Given the description of an element on the screen output the (x, y) to click on. 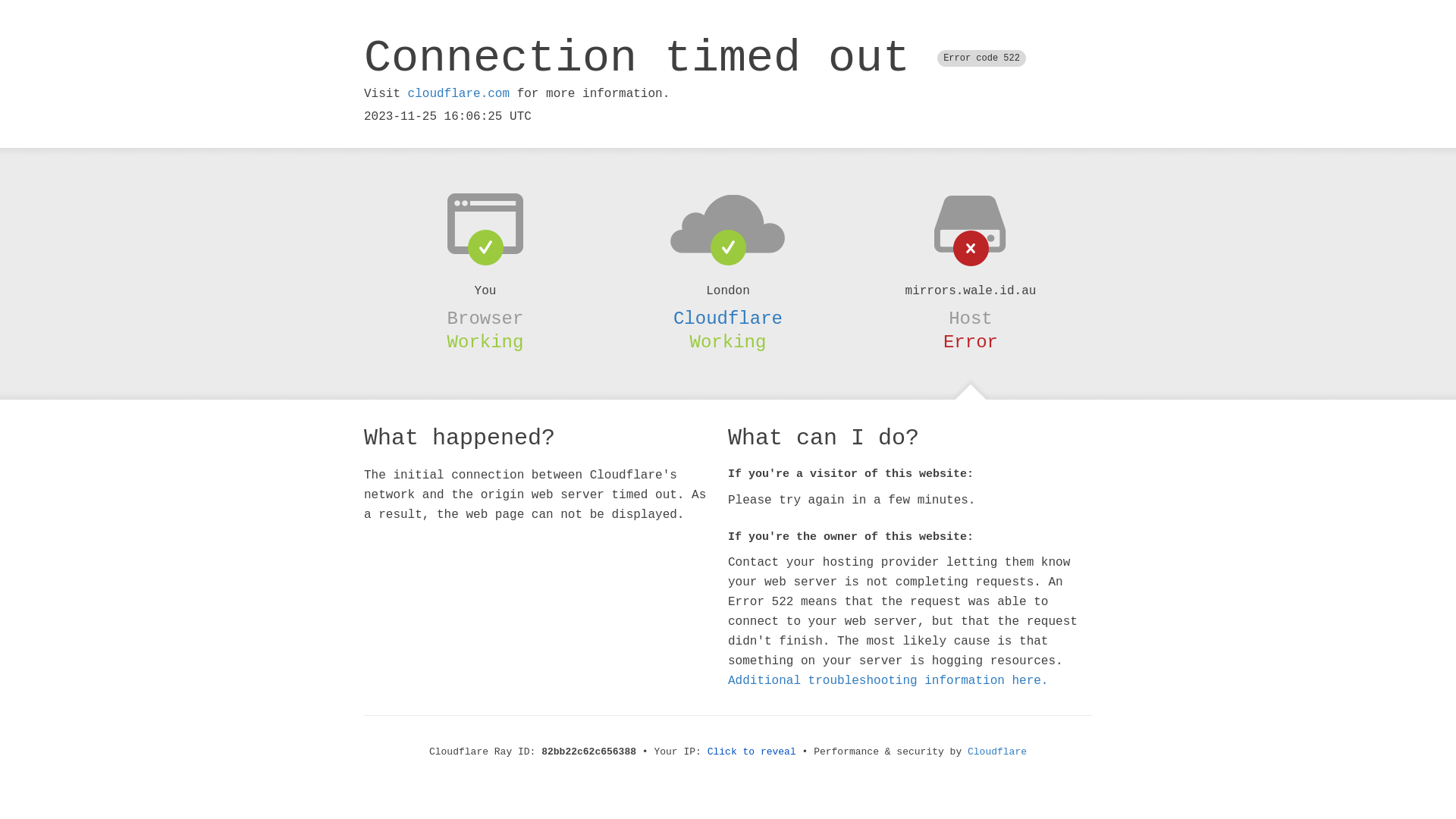
Additional troubleshooting information here. Element type: text (888, 680)
cloudflare.com Element type: text (458, 93)
Cloudflare Element type: text (727, 318)
Click to reveal Element type: text (751, 751)
Cloudflare Element type: text (996, 751)
